Given the description of an element on the screen output the (x, y) to click on. 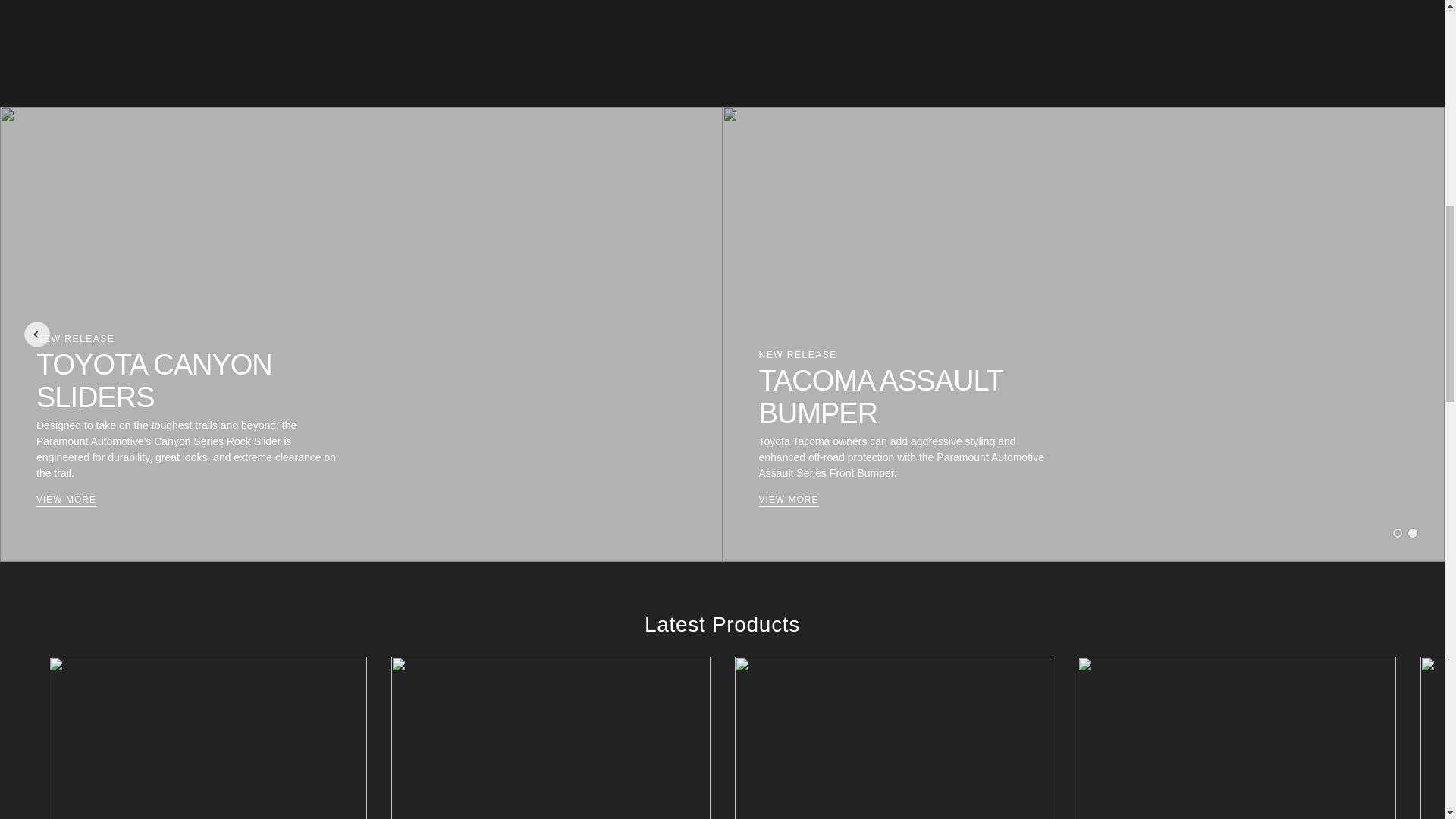
Latest Products (722, 624)
VIEW MORE (788, 500)
VIEW MORE (66, 500)
